Given the description of an element on the screen output the (x, y) to click on. 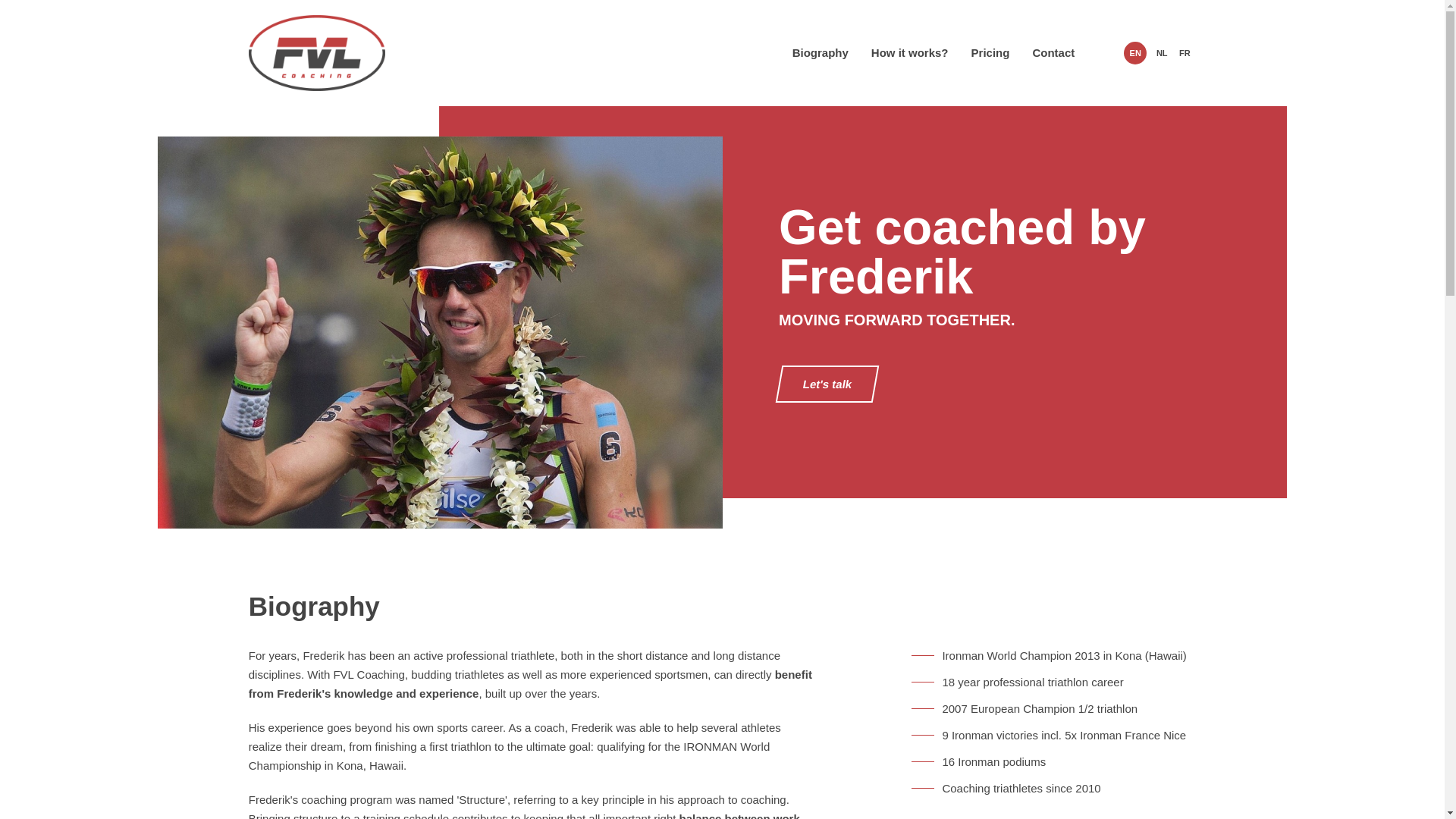
FR (1184, 52)
EN (1135, 52)
Pricing (990, 52)
How it works? (909, 52)
NL (1161, 52)
English (1135, 52)
Nederlans (1161, 52)
Biography (820, 52)
Let's talk (824, 383)
Contact (1053, 52)
